Given the description of an element on the screen output the (x, y) to click on. 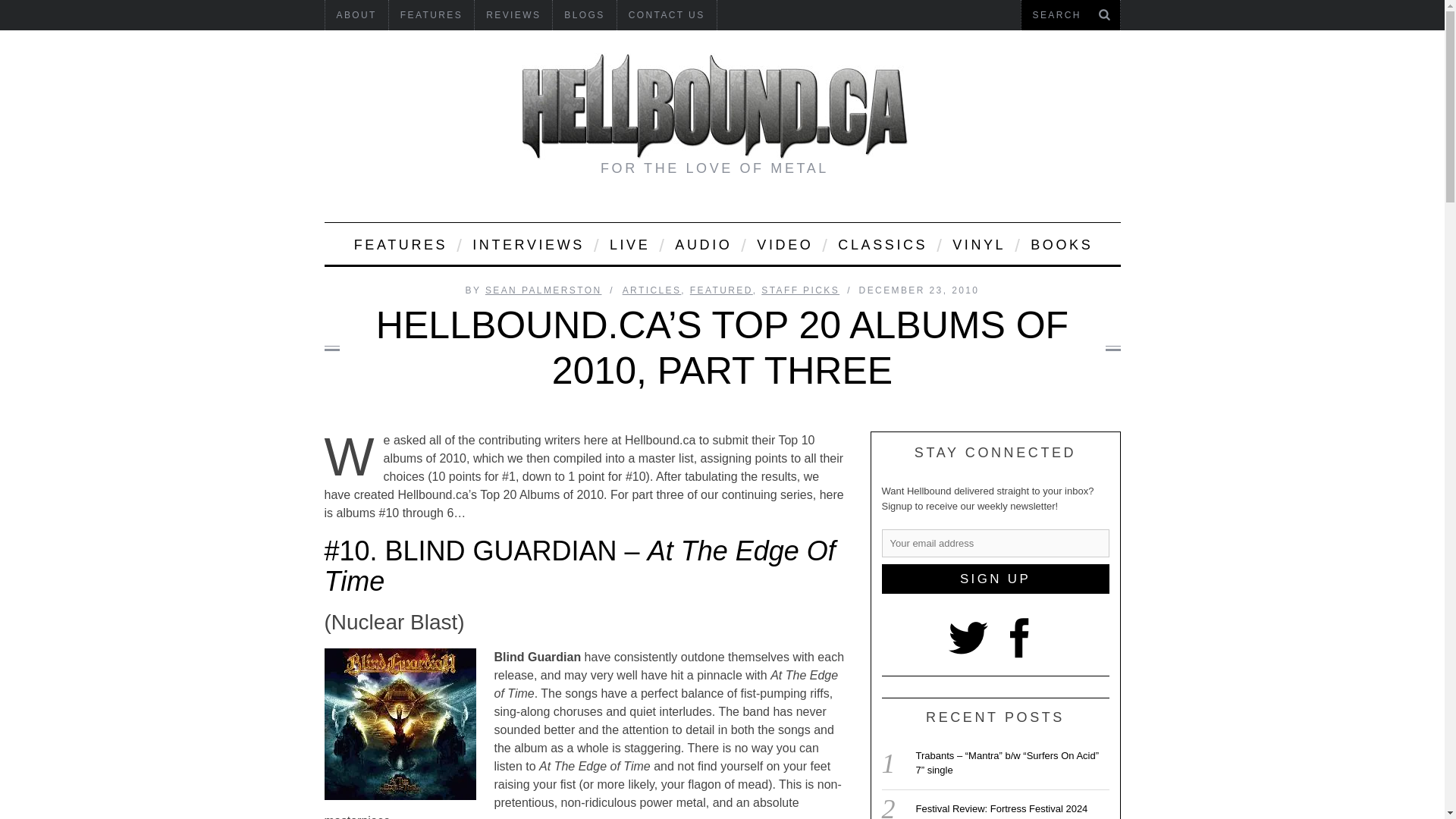
Sign up (994, 578)
Search (1070, 15)
Posts by Sean Palmerston (543, 290)
10 (400, 724)
Hellbound.ca - FOR THE LOVE OF METAL (714, 106)
